Given the description of an element on the screen output the (x, y) to click on. 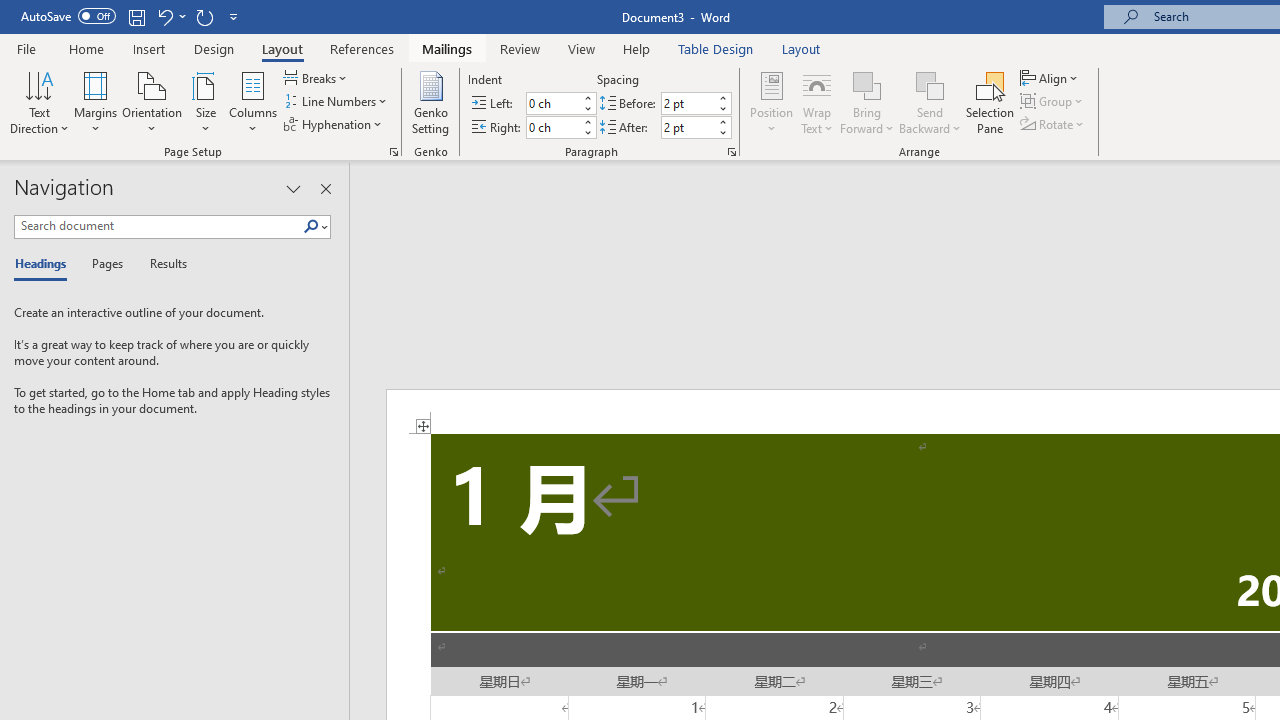
Page Setup... (393, 151)
Close pane (325, 188)
View (582, 48)
References (362, 48)
Indent Left (552, 103)
File Tab (26, 48)
Spacing Before (687, 103)
Less (722, 132)
Wrap Text (817, 102)
Columns (253, 102)
Home (86, 48)
Undo Increase Indent (164, 15)
More Options (930, 121)
Task Pane Options (293, 188)
Results (161, 264)
